Given the description of an element on the screen output the (x, y) to click on. 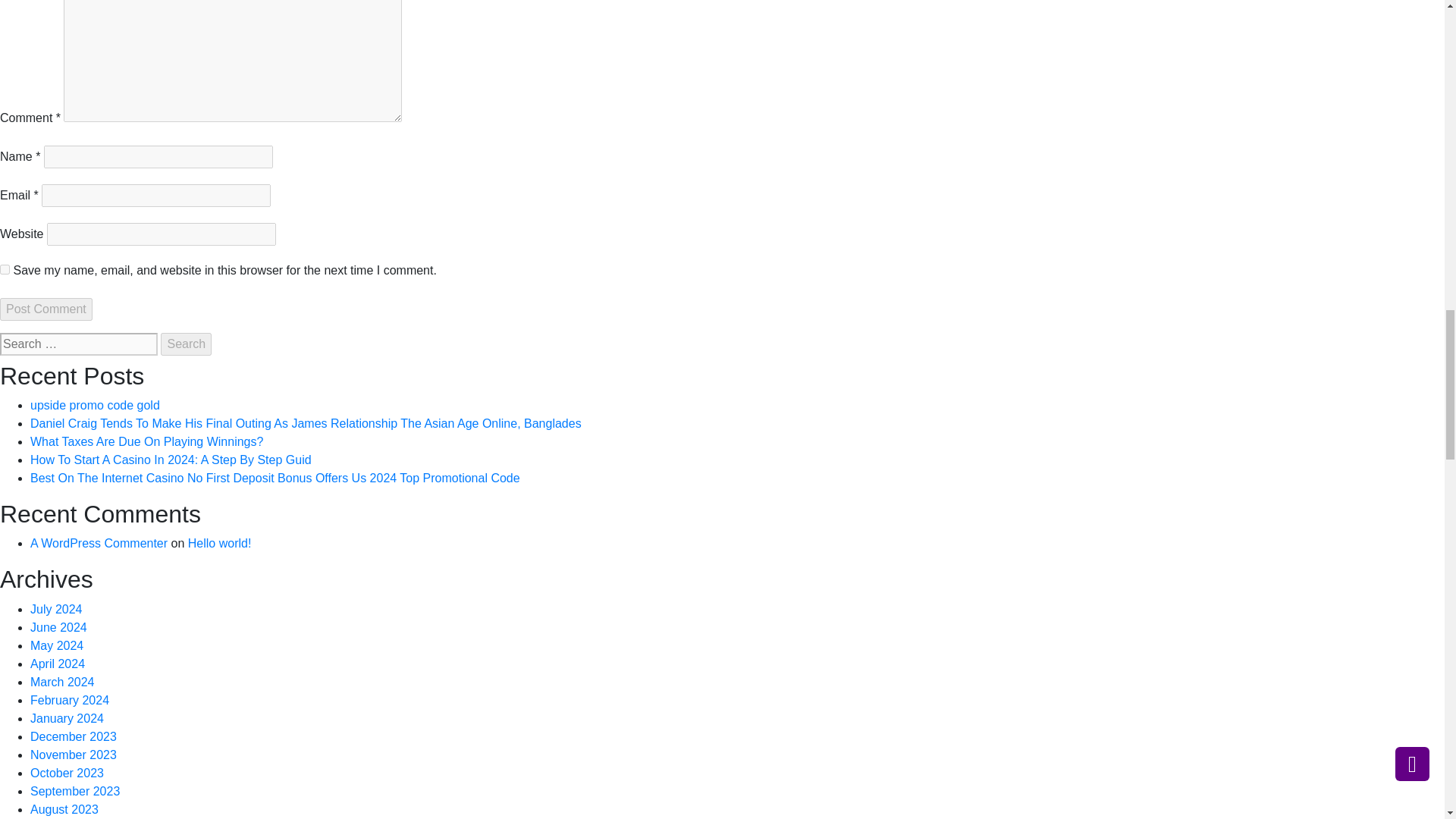
What Taxes Are Due On Playing Winnings? (146, 440)
March 2024 (62, 681)
July 2024 (56, 608)
Search (185, 343)
How To Start A Casino In 2024: A Step By Step Guid (170, 459)
November 2023 (73, 754)
Post Comment (46, 309)
June 2024 (58, 626)
Post Comment (46, 309)
Search (185, 343)
Search (185, 343)
upside promo code gold (95, 404)
A WordPress Commenter (98, 543)
